Given the description of an element on the screen output the (x, y) to click on. 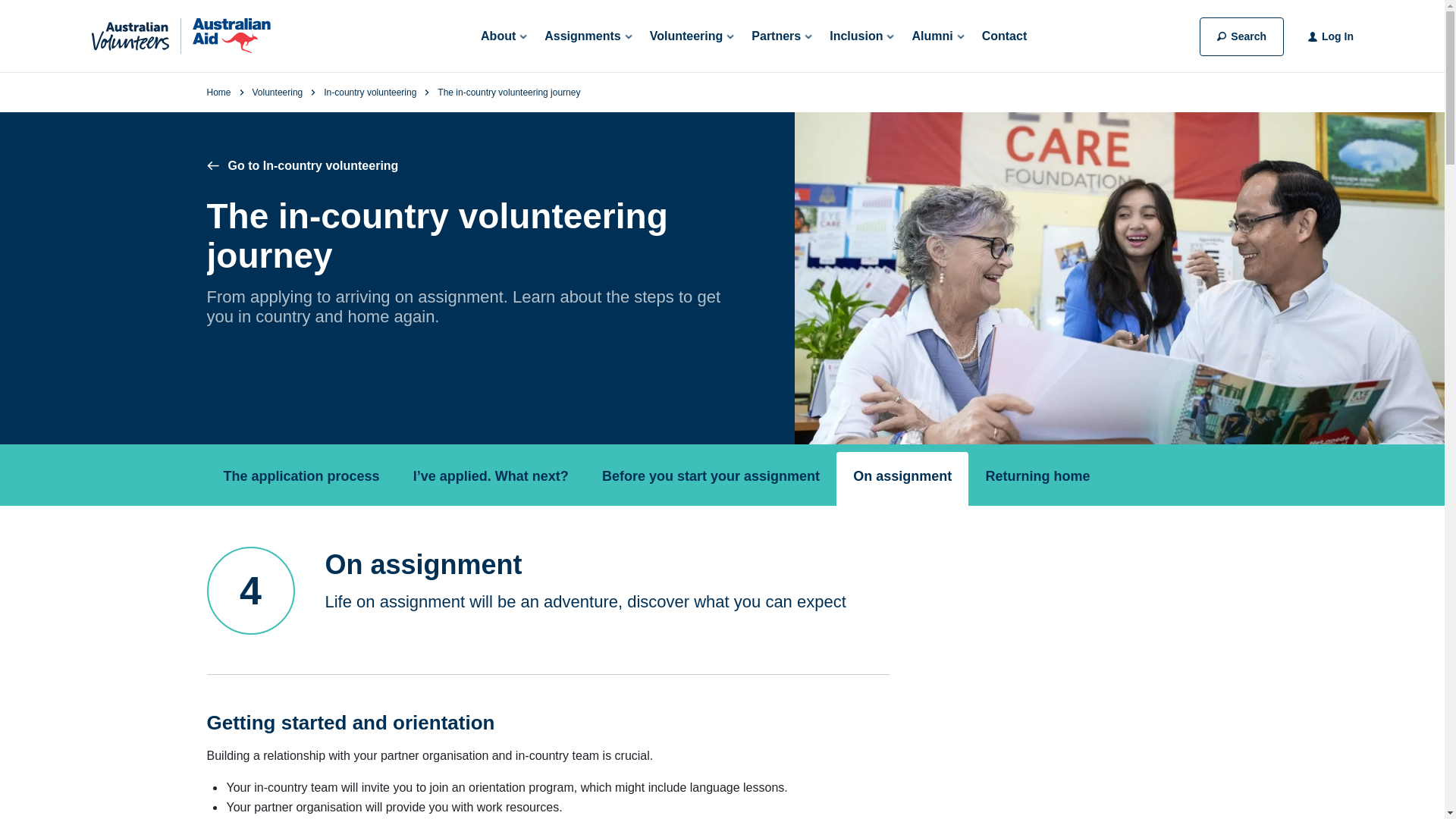
Home (218, 91)
Volunteering (691, 36)
The application process (301, 479)
Search (1241, 35)
Log In (1338, 36)
Inclusion (861, 36)
Alumni (936, 36)
Go to In-country volunteering (301, 165)
Assignments (587, 36)
Log In (1330, 36)
